Given the description of an element on the screen output the (x, y) to click on. 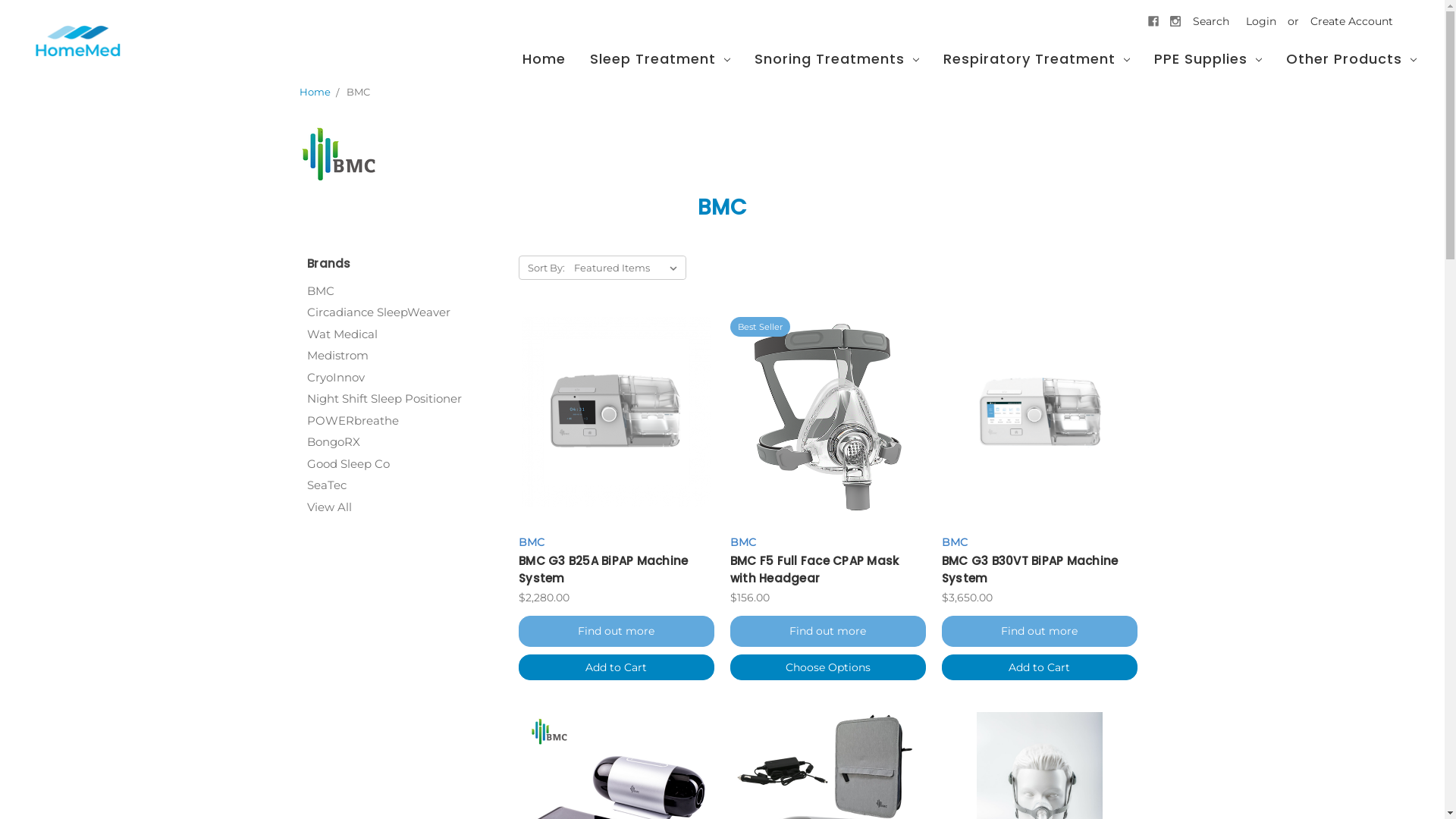
BMC F5 Full Face CPAP Mask with Headgear Element type: text (814, 569)
Medistrom Element type: text (404, 356)
Night Shift Sleep Positioner Element type: text (404, 399)
PPE Supplies Element type: text (1208, 60)
Other Products Element type: text (1351, 60)
Add to Cart Element type: text (1039, 667)
BMC Element type: text (357, 91)
Circadiance SleepWeaver Element type: text (404, 312)
Choose Options Element type: text (827, 667)
BMC G3 B30VT BiPAP Machine System Element type: text (1029, 569)
Home Element type: text (543, 60)
BMC F5 Full Face CPAP Mask with Headgear Element type: hover (827, 421)
CryoInnov Element type: text (404, 378)
Find out more Element type: text (827, 630)
Search Element type: text (1210, 20)
SeaTec Element type: text (404, 485)
BMC G3 B25A BiPAP Machine System Element type: text (602, 569)
Create Account Element type: text (1351, 20)
Wat Medical Element type: text (404, 334)
Respiratory Treatment Element type: text (1036, 60)
View All Element type: text (404, 507)
Login Element type: text (1260, 20)
POWERbreathe Element type: text (404, 421)
BMC G3 B30VT BiPAP Machine System Element type: hover (1039, 411)
Add to Cart Element type: text (616, 667)
BMC Element type: text (404, 291)
Find out more Element type: text (1039, 630)
Find out more Element type: text (616, 630)
Good Sleep Co Element type: text (404, 464)
BongoRX Element type: text (404, 442)
BMC G3 B25A BiPAP Machine System Element type: hover (616, 411)
Home Element type: text (313, 91)
Sleep Treatment Element type: text (659, 60)
Snoring Treatments Element type: text (836, 60)
